Given the description of an element on the screen output the (x, y) to click on. 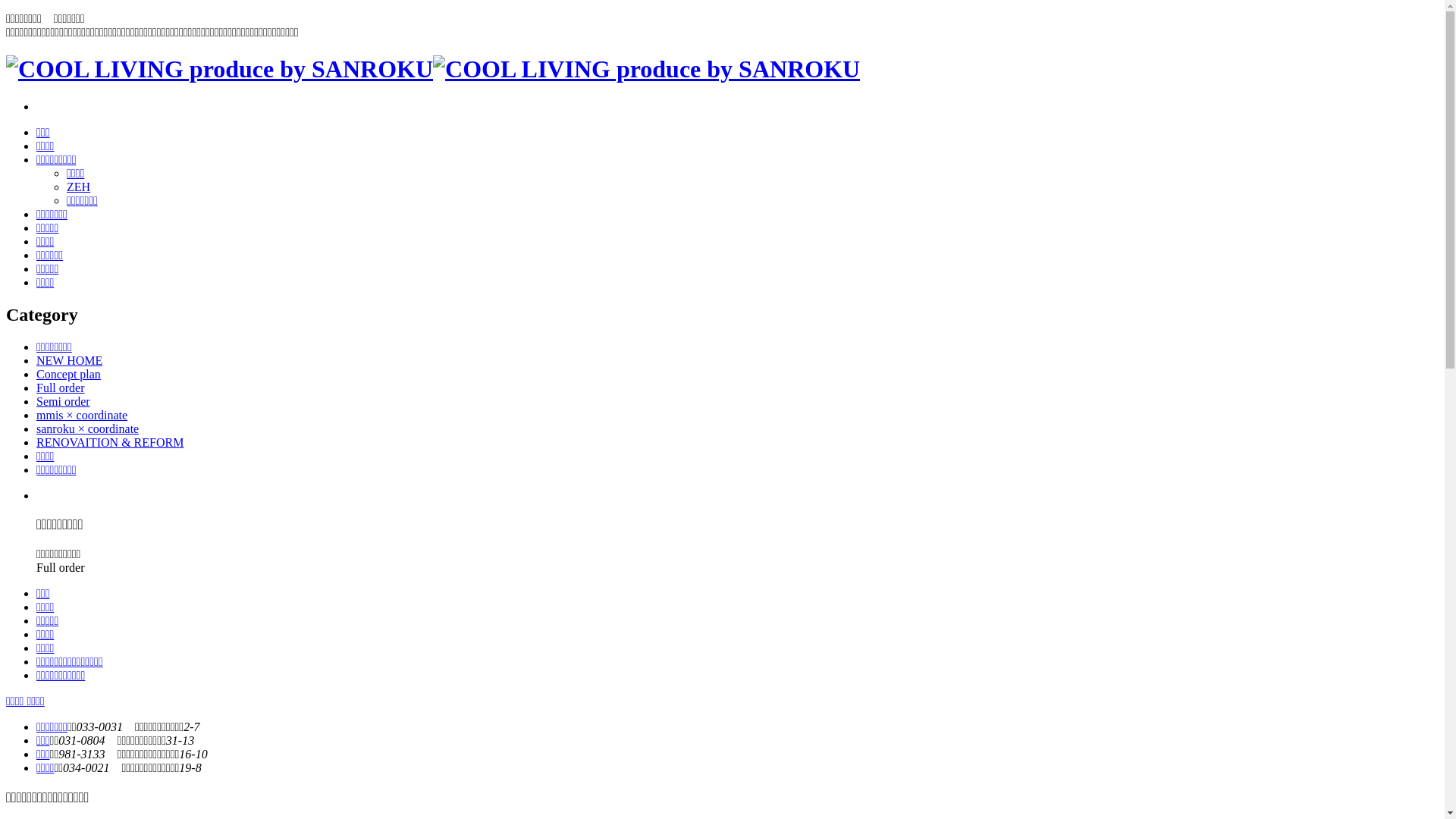
Semi order Element type: text (63, 401)
NEW HOME Element type: text (69, 360)
Full order Element type: text (60, 387)
ZEH Element type: text (78, 186)
RENOVAITION & REFORM Element type: text (109, 442)
Concept plan Element type: text (68, 373)
